Given the description of an element on the screen output the (x, y) to click on. 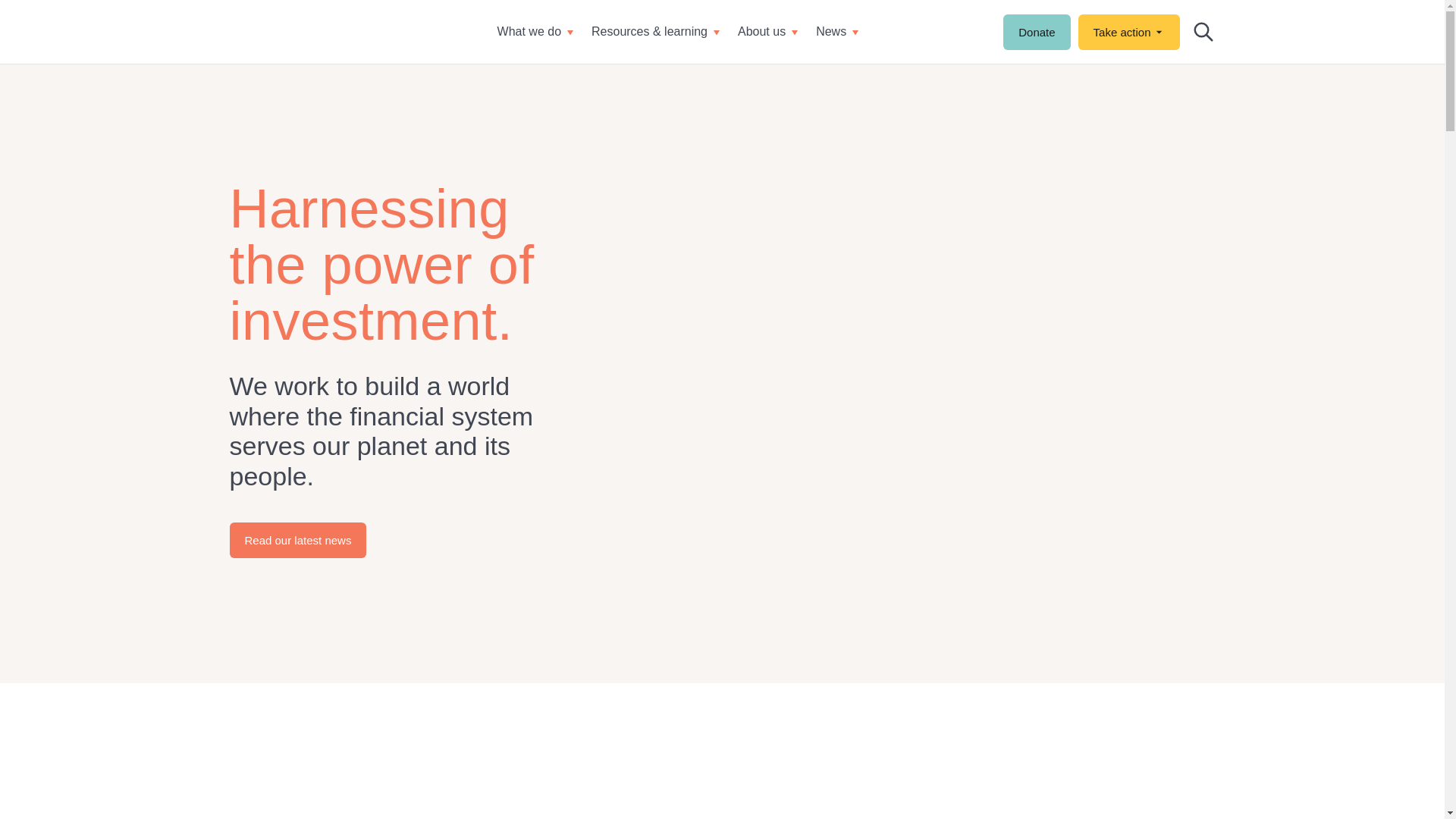
News (837, 31)
Take action (1129, 31)
About us (767, 31)
Donate (1036, 31)
What we do (535, 31)
